Given the description of an element on the screen output the (x, y) to click on. 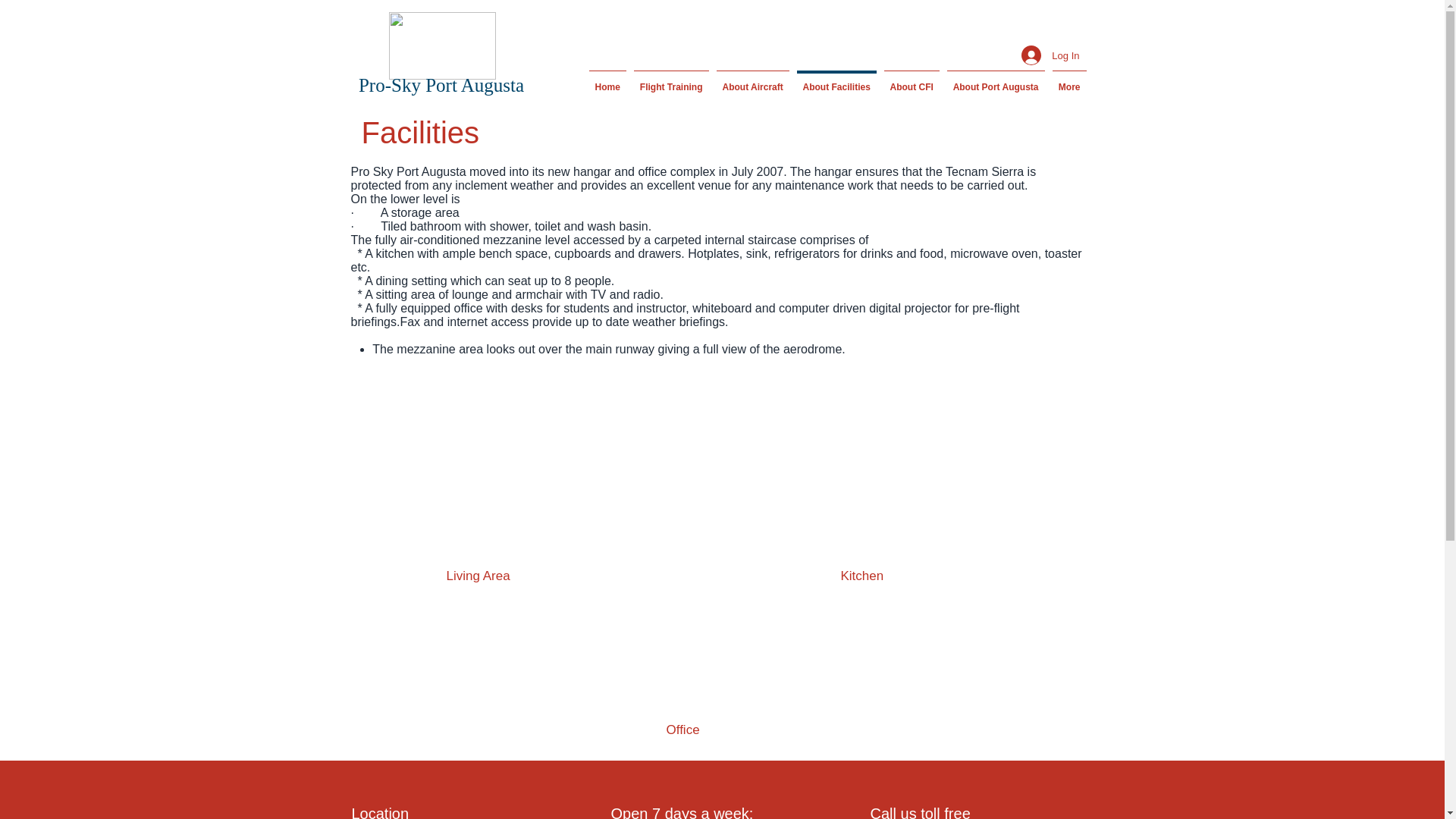
About Port Augusta (995, 80)
Flight Training (669, 80)
About CFI (910, 80)
Log In (1049, 54)
Home (607, 80)
About Aircraft (753, 80)
About Facilities (836, 80)
